Given the description of an element on the screen output the (x, y) to click on. 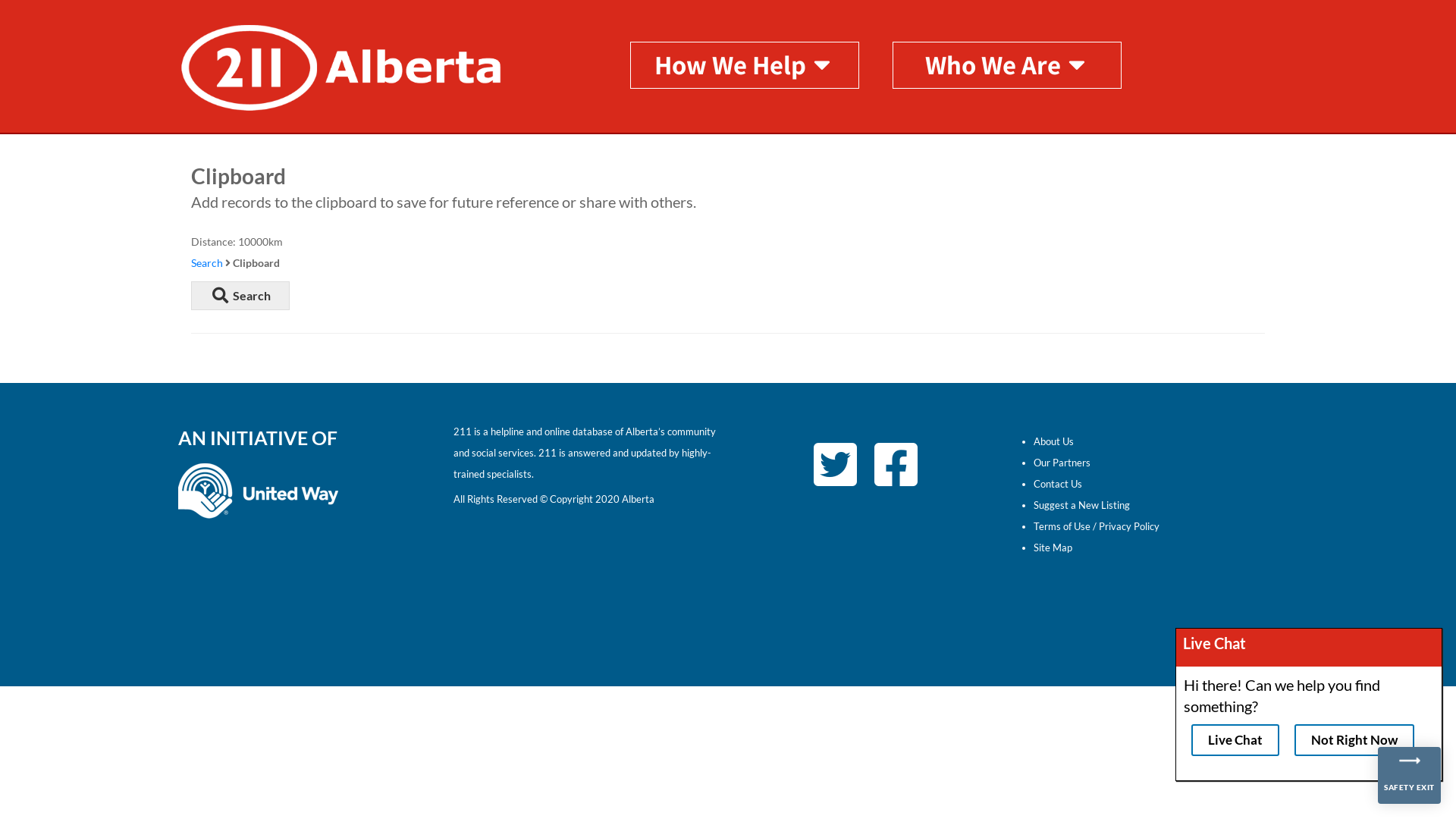
Suggest a New Listing Element type: text (1080, 504)
Not Right Now Element type: text (1354, 740)
Site Map Element type: text (1051, 547)
About Us Element type: text (1052, 441)
Live Chat Element type: text (1235, 740)
Terms of Use / Privacy Policy Element type: text (1095, 526)
Our Partners Element type: text (1060, 462)
Who We Are Element type: text (1006, 64)
Contact Us Element type: text (1056, 483)
Search Element type: text (206, 262)
How We Help Element type: text (744, 64)
Search Element type: text (240, 295)
